Given the description of an element on the screen output the (x, y) to click on. 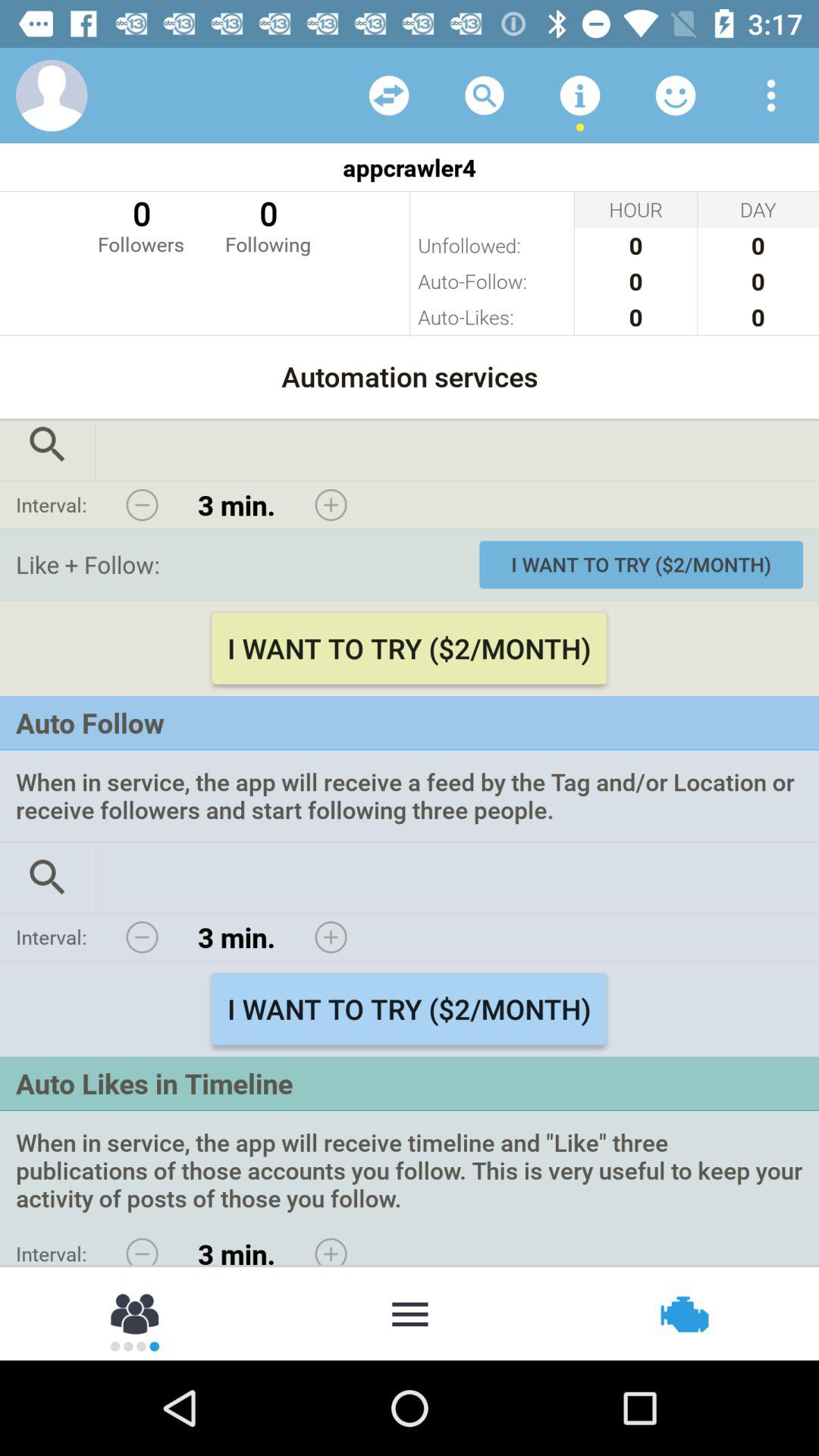
gives more options for actions (409, 1312)
